Given the description of an element on the screen output the (x, y) to click on. 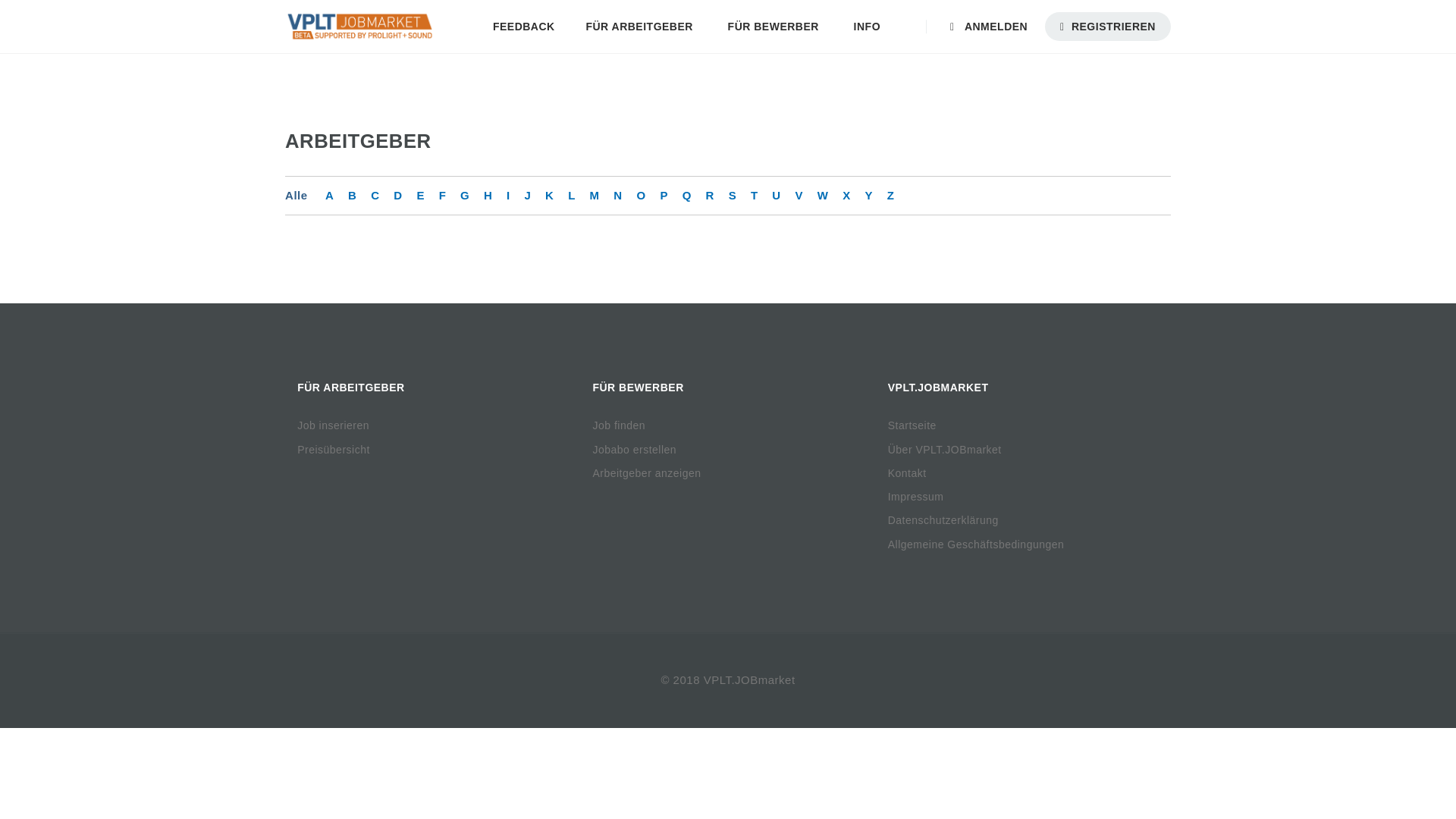
Alle (296, 195)
FEEDBACK (524, 26)
Dein Traumjob in der Unterhaltungsindustrie (359, 26)
  ANMELDEN (995, 26)
 REGISTRIEREN (1107, 26)
INFO (869, 26)
